Given the description of an element on the screen output the (x, y) to click on. 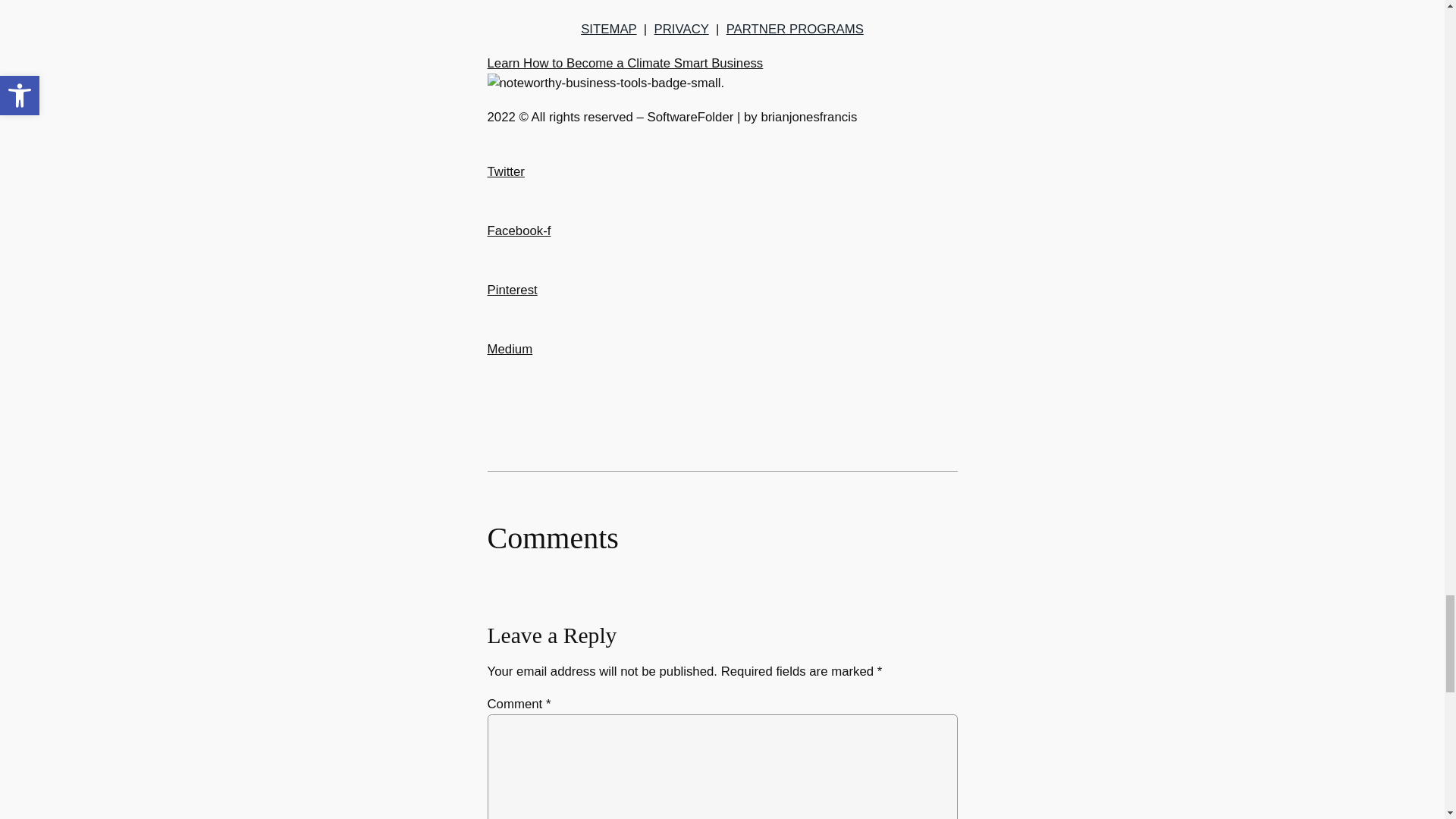
Twitter (505, 181)
SITEMAP (608, 29)
PARTNER PROGRAMS (794, 29)
Learn How to Become a Climate Smart Business (624, 63)
Medium (509, 358)
PRIVACY (681, 29)
Facebook-f (518, 240)
Pinterest (511, 299)
